Given the description of an element on the screen output the (x, y) to click on. 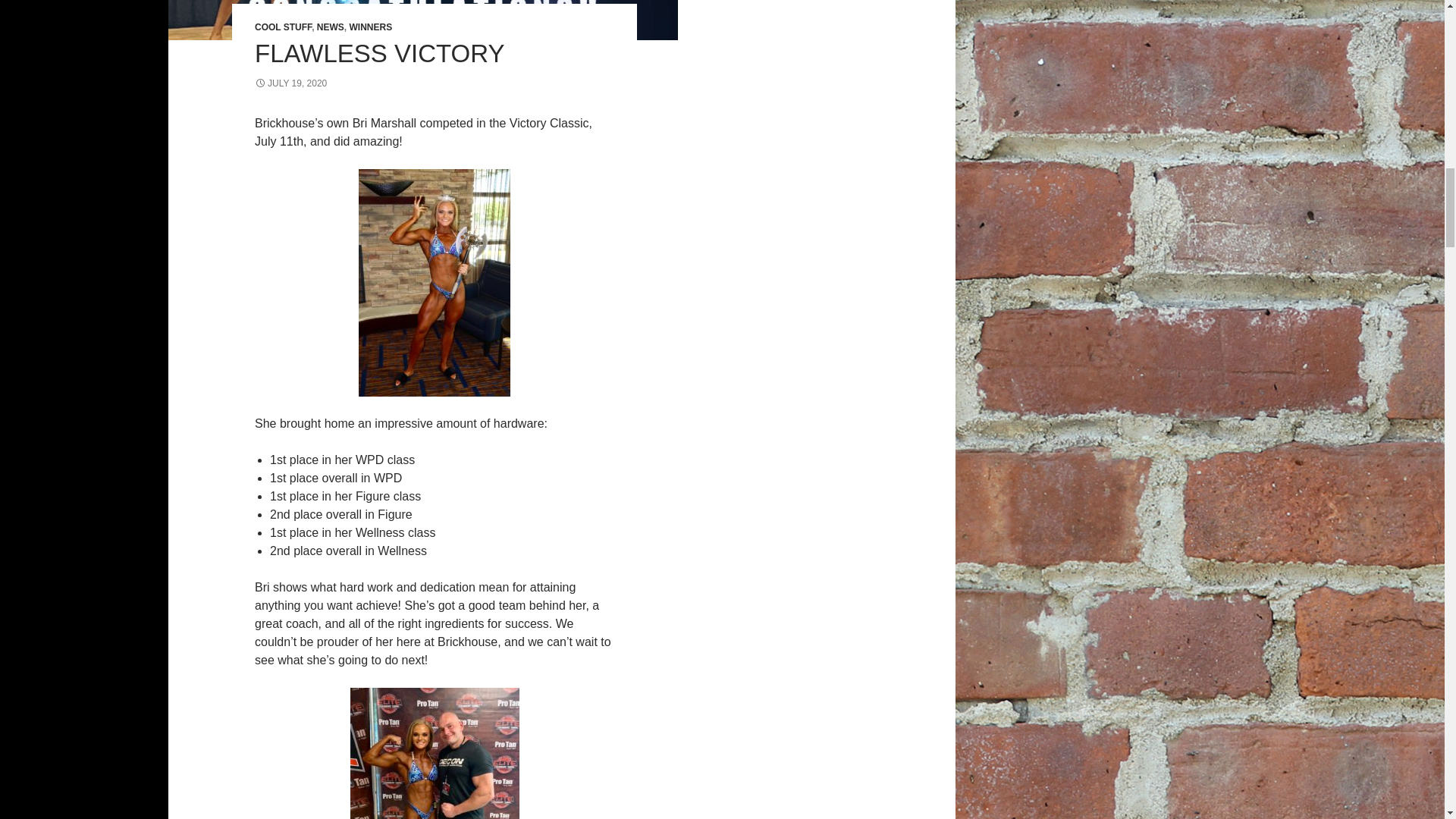
JULY 19, 2020 (290, 82)
NEWS (330, 27)
COOL STUFF (282, 27)
FLAWLESS VICTORY (378, 53)
WINNERS (370, 27)
